Given the description of an element on the screen output the (x, y) to click on. 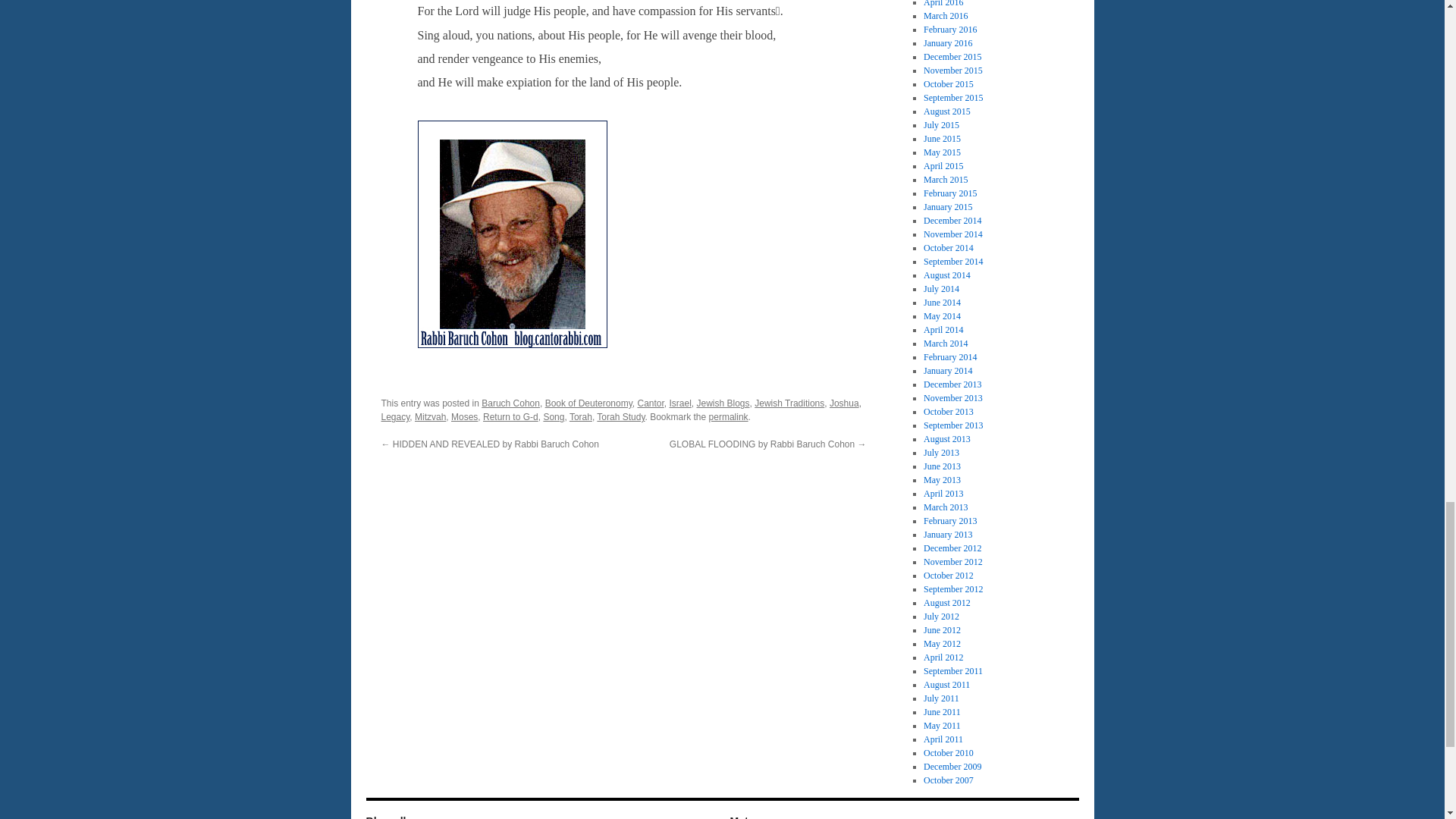
Song (553, 416)
Book of Deuteronomy (587, 403)
Baruch Cohon (510, 403)
Joshua (844, 403)
Moses (464, 416)
Jewish Traditions (789, 403)
permalink (728, 416)
Jewish Blogs (723, 403)
Torah Study (620, 416)
Return to G-d (510, 416)
